Given the description of an element on the screen output the (x, y) to click on. 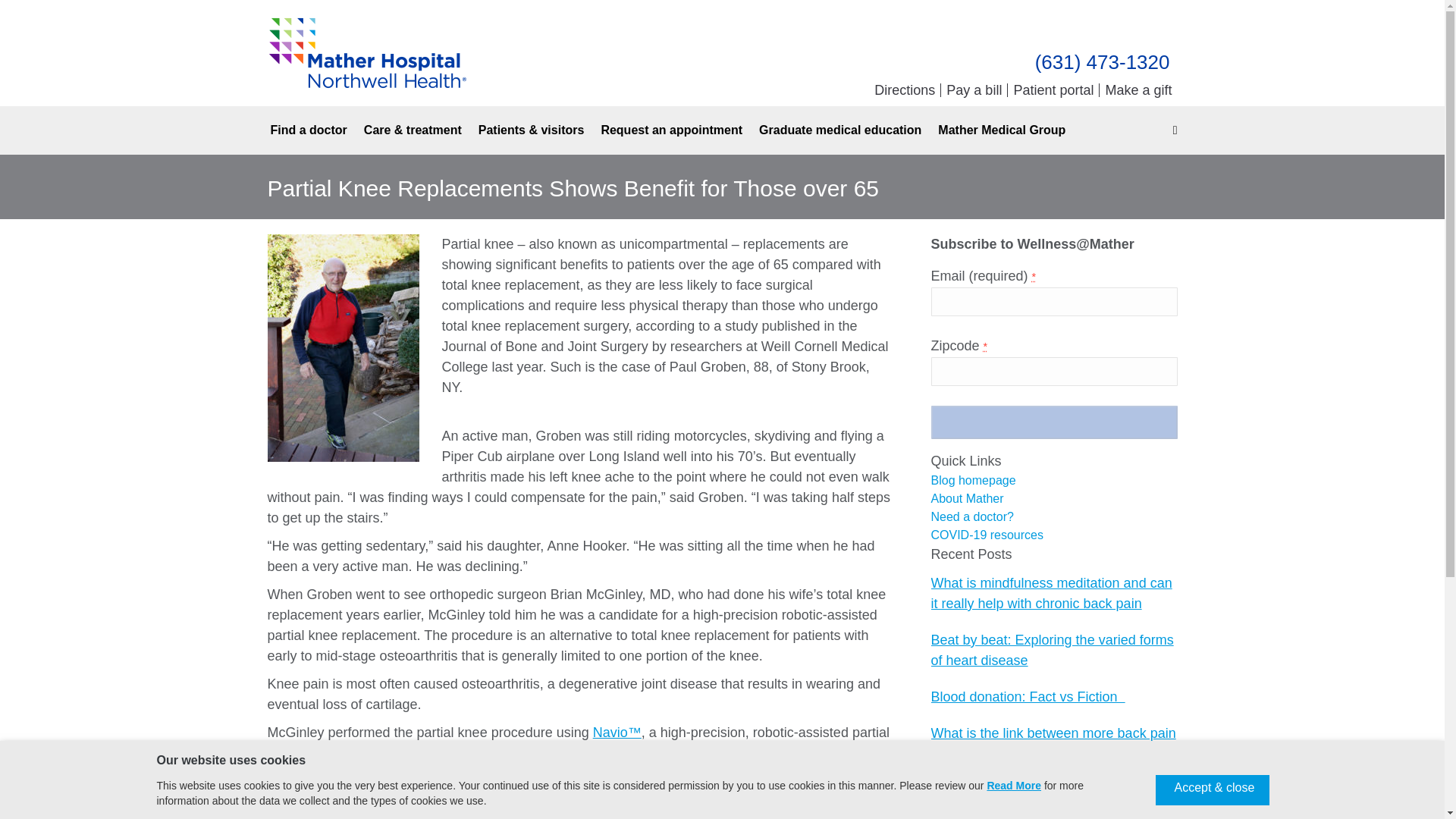
Graduate medical education (839, 129)
Find a doctor (307, 129)
Pay a bill (976, 90)
Mather Medical Group (1001, 129)
Directions (907, 90)
Request an appointment (670, 129)
Patient portal (1056, 90)
Sign up (1054, 421)
Make a gift (1138, 89)
Go! (24, 16)
